Given the description of an element on the screen output the (x, y) to click on. 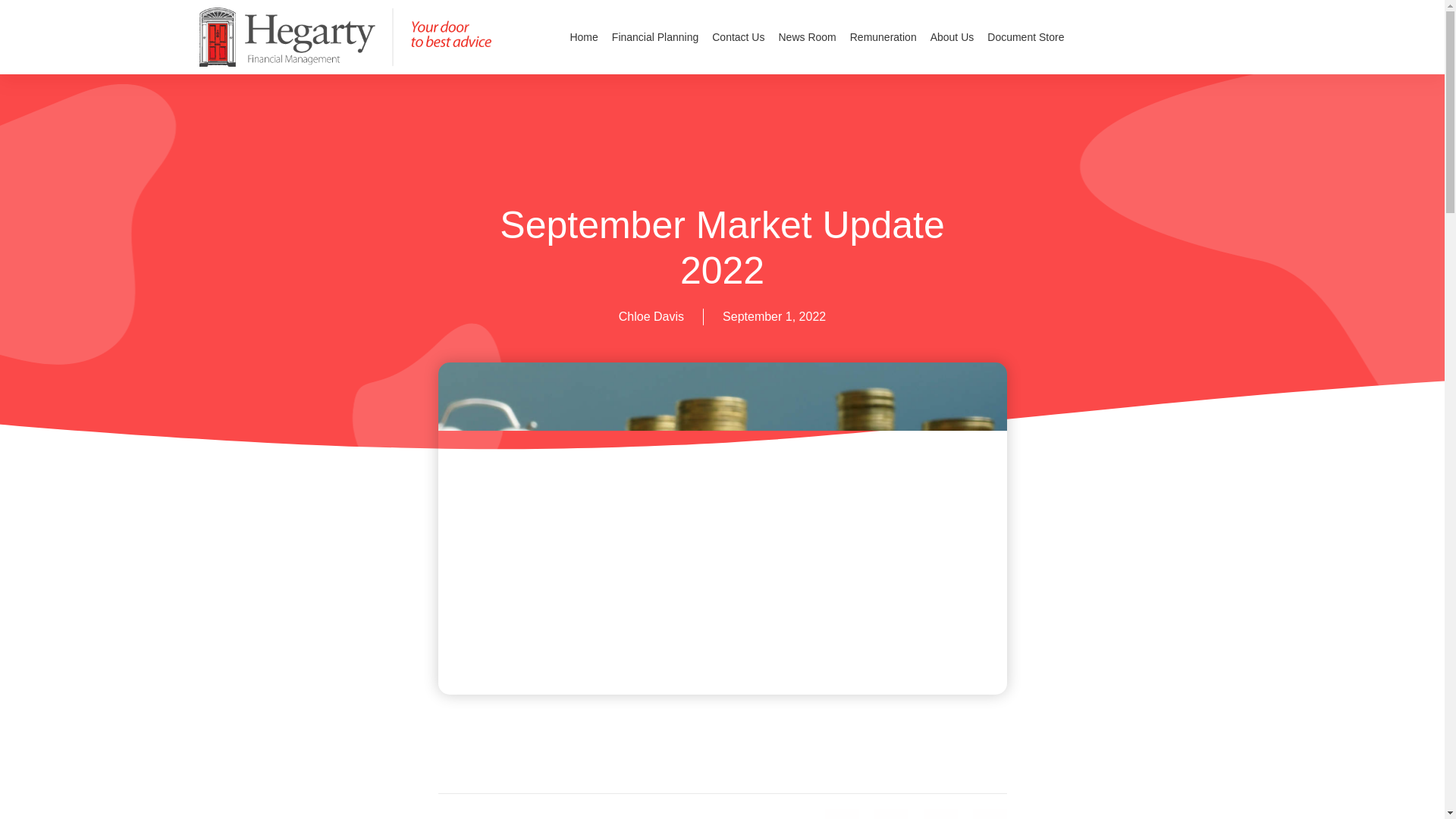
Contact Us (737, 37)
News Room (807, 37)
Financial Planning (654, 37)
Home (583, 37)
About Us (952, 37)
Remuneration (883, 37)
Document Store (1024, 37)
